Given the description of an element on the screen output the (x, y) to click on. 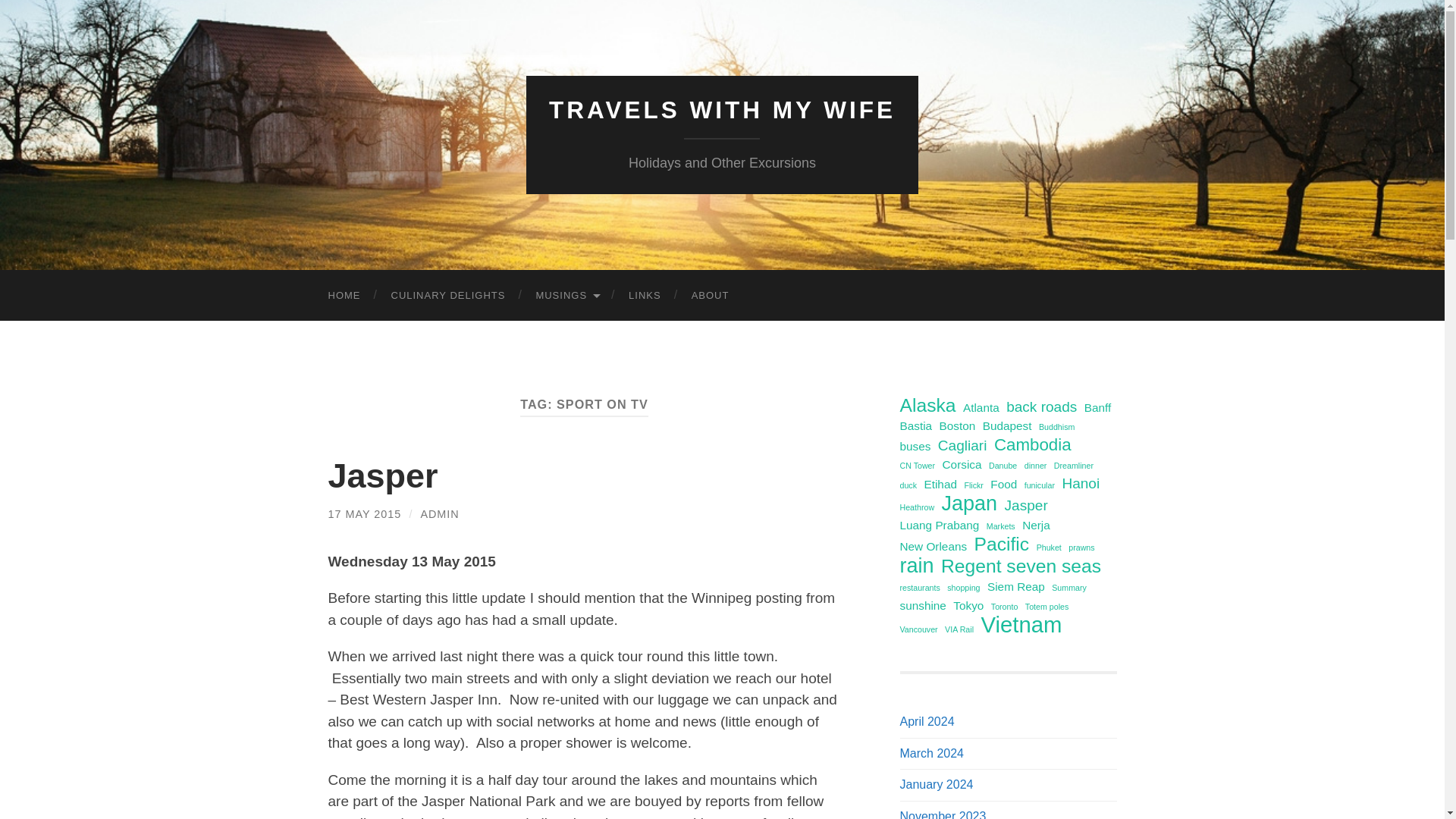
Alaska (927, 405)
Atlanta (980, 407)
dinner (1035, 465)
17 MAY 2015 (364, 513)
Cambodia (1032, 444)
MUSINGS (565, 295)
Buddhism (1056, 426)
Corsica (961, 464)
TRAVELS WITH MY WIFE (721, 109)
CULINARY DELIGHTS (448, 295)
Boston (957, 425)
buses (914, 446)
Banff (1098, 407)
HOME (344, 295)
Bastia (915, 425)
